Given the description of an element on the screen output the (x, y) to click on. 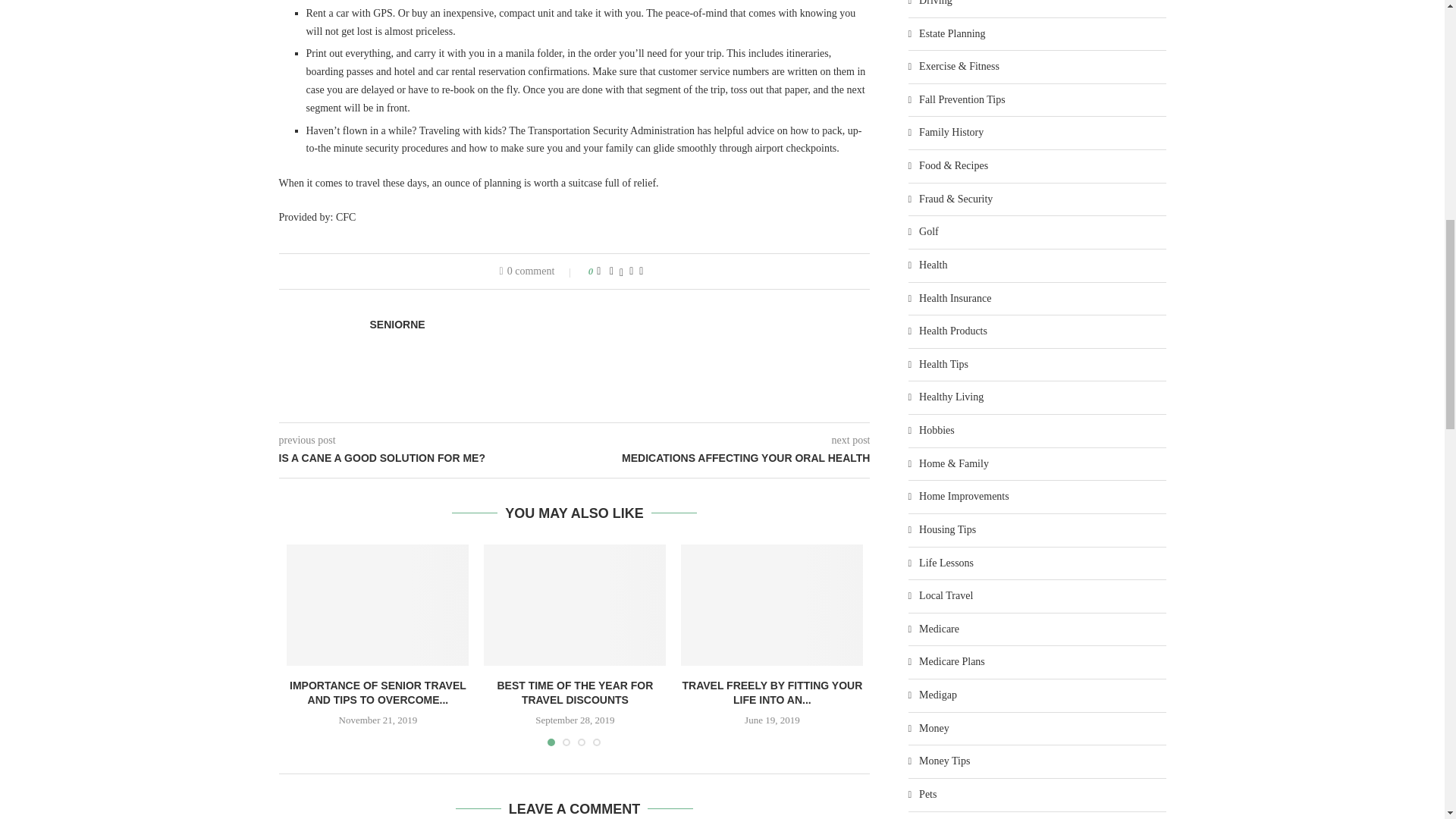
Best Time of the Year for Travel Discounts (574, 604)
Travel Freely By Fitting Your Life Into An RV (772, 604)
Author seniorne (397, 324)
